Given the description of an element on the screen output the (x, y) to click on. 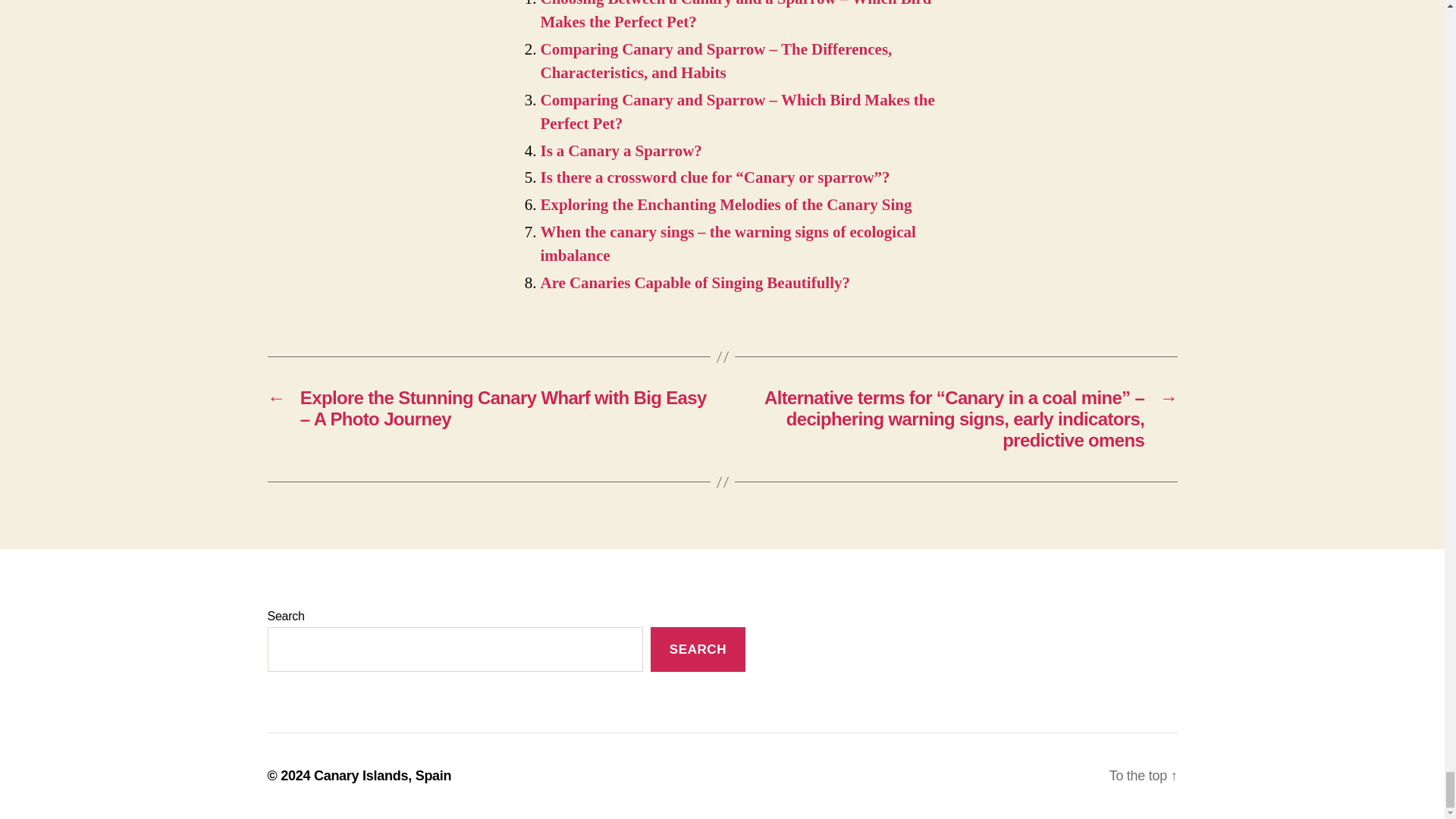
SEARCH (697, 649)
Are Canaries Capable of Singing Beautifully? (694, 282)
Are Canaries Capable of Singing Beautifully? (694, 282)
Exploring the Enchanting Melodies of the Canary Sing (725, 204)
Exploring the Enchanting Melodies of the Canary Sing (725, 204)
Is a Canary a Sparrow? (620, 150)
Canary Islands, Spain (382, 775)
Is a Canary a Sparrow? (620, 150)
